Given the description of an element on the screen output the (x, y) to click on. 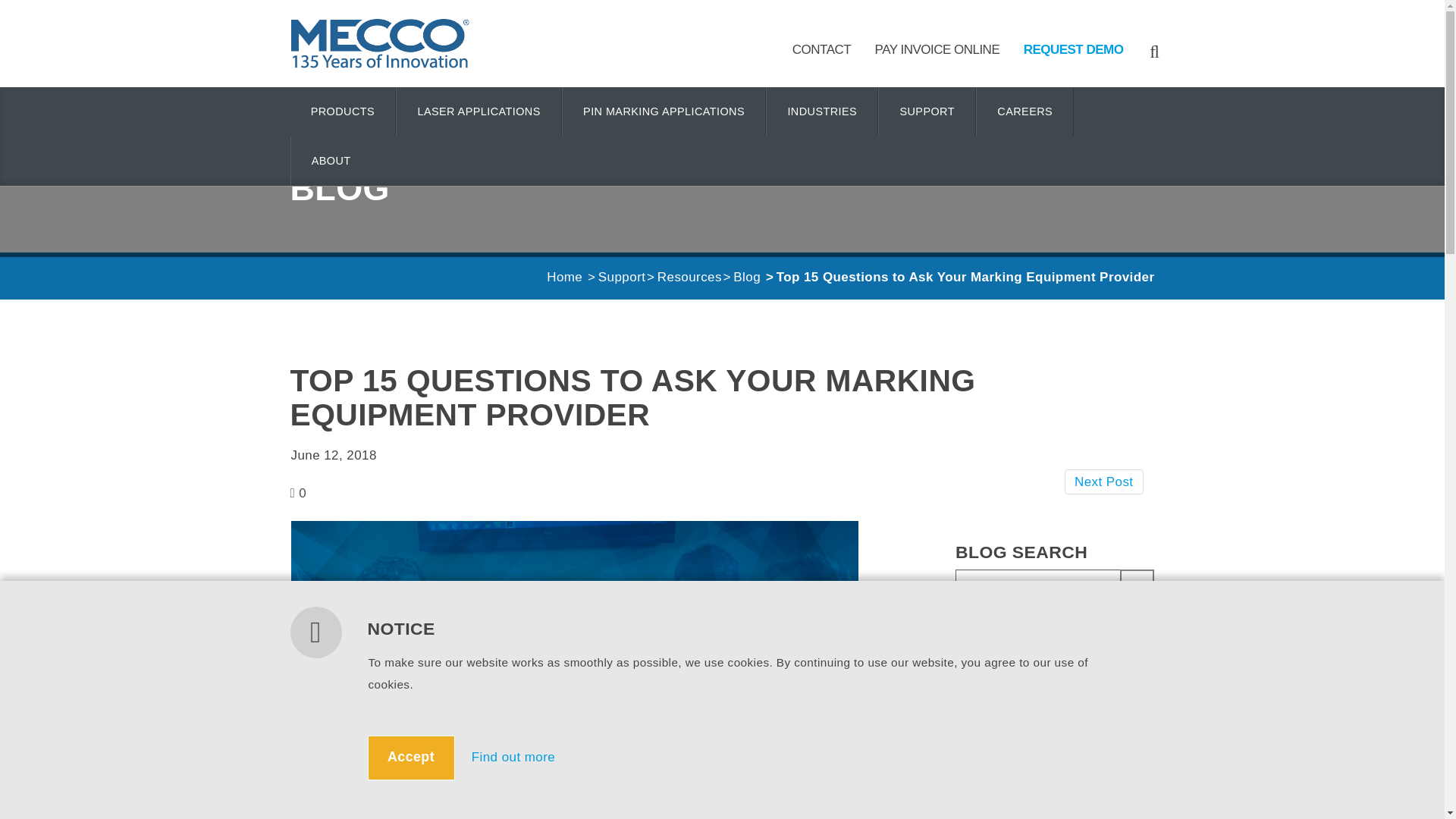
MECCO (378, 42)
LASER APPLICATIONS (478, 111)
Find out more (512, 757)
PRODUCTS (341, 111)
Accept (410, 757)
